Given the description of an element on the screen output the (x, y) to click on. 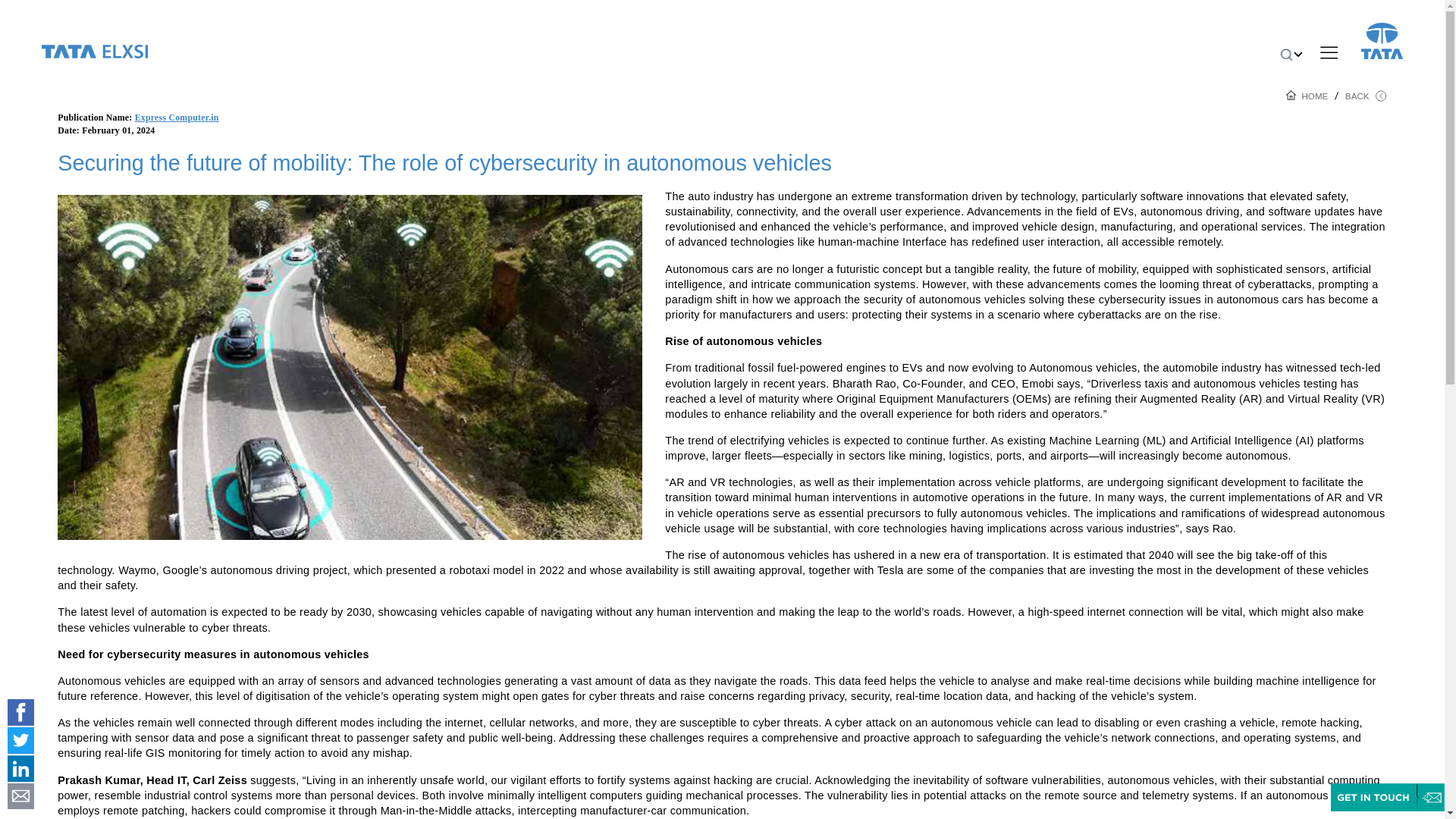
LinkedIn (20, 768)
menu (1329, 52)
Facebook (20, 712)
Share by Email (20, 795)
Twitter (20, 740)
